Given the description of an element on the screen output the (x, y) to click on. 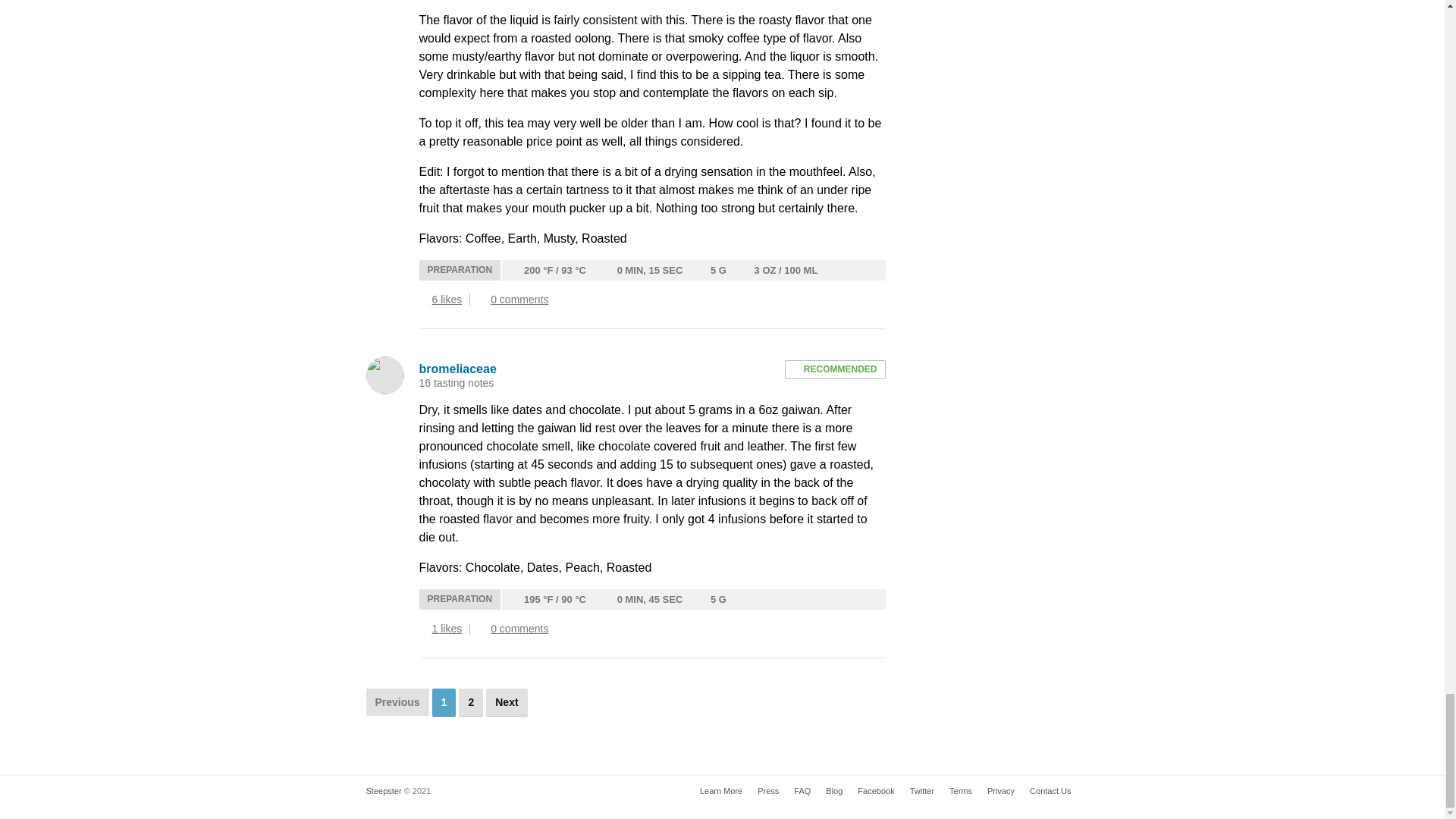
Like This (423, 299)
